Given the description of an element on the screen output the (x, y) to click on. 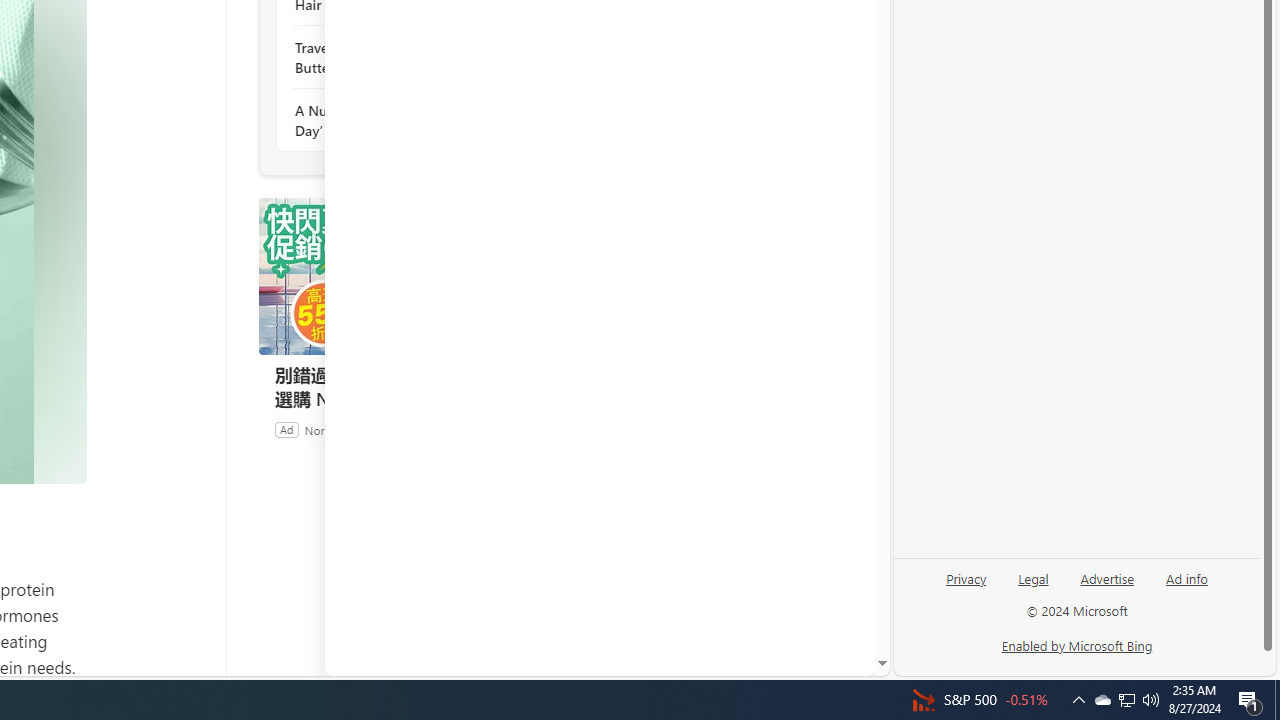
Nordace (326, 429)
Privacy (965, 577)
Ad info (1187, 577)
Legal (1033, 586)
Feedback (798, 659)
Ad Choice (535, 429)
Ad (286, 429)
Advertise (1107, 577)
Privacy (966, 586)
Advertise (1106, 586)
